Given the description of an element on the screen output the (x, y) to click on. 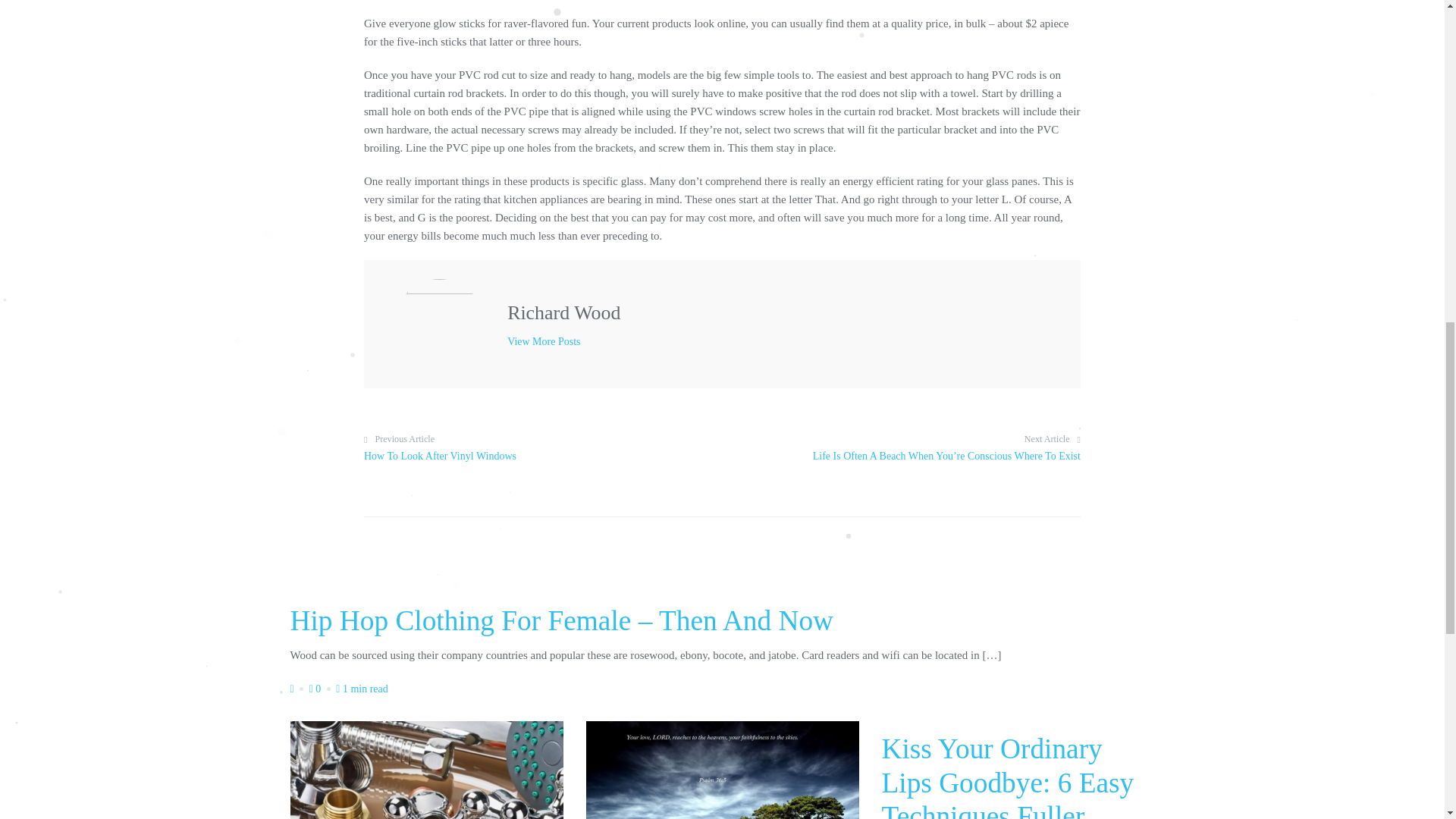
1 min read (535, 448)
View More Posts (362, 688)
0 (542, 341)
